Given the description of an element on the screen output the (x, y) to click on. 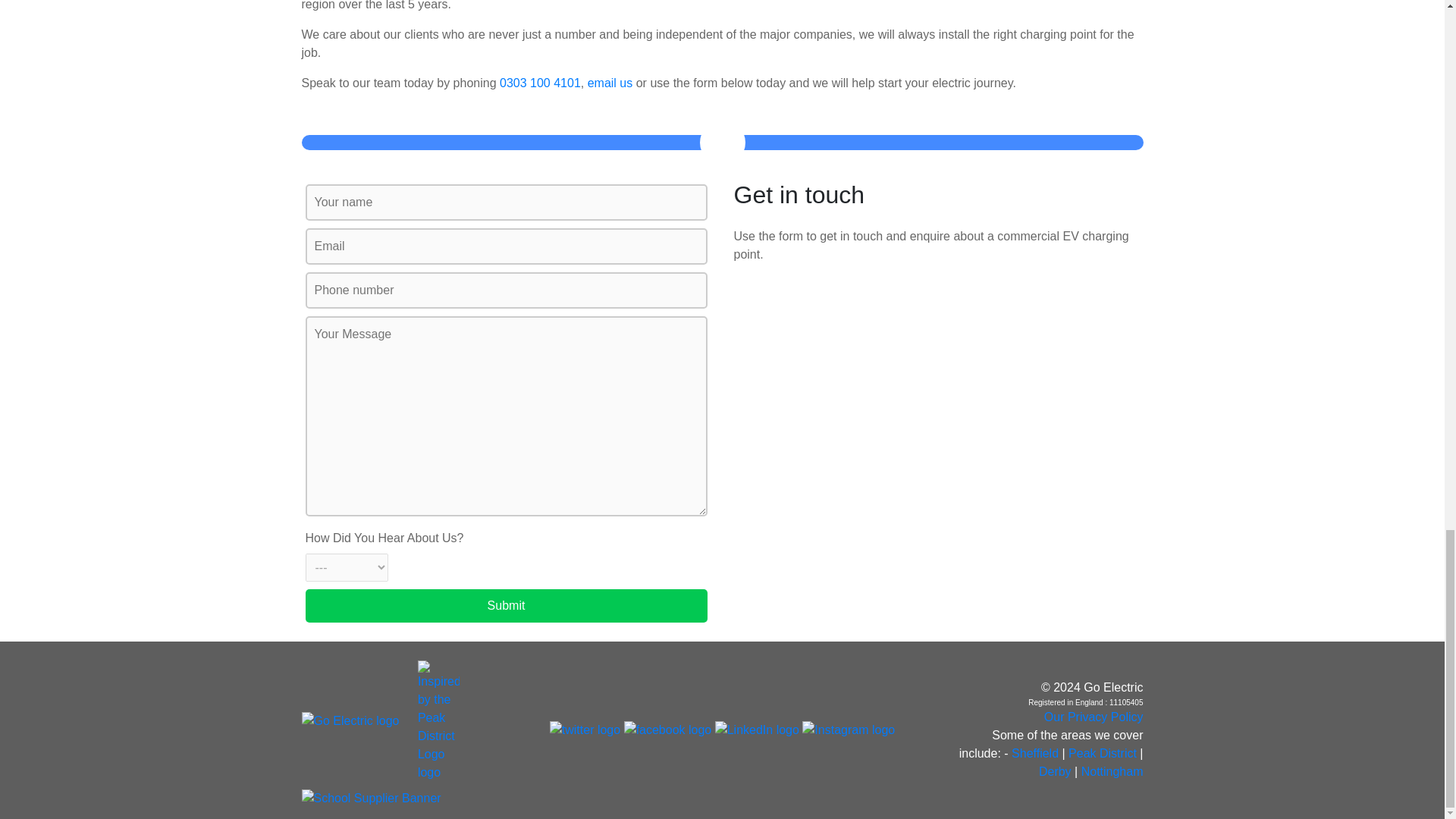
Sheffield (1034, 753)
Our Privacy Policy (1092, 716)
Submit (505, 605)
School Suppliers (371, 797)
Peak District (1102, 753)
0303 100 4101 (539, 82)
email us (610, 82)
Derby (1055, 771)
Nottingham (1111, 771)
Submit (505, 605)
